Given the description of an element on the screen output the (x, y) to click on. 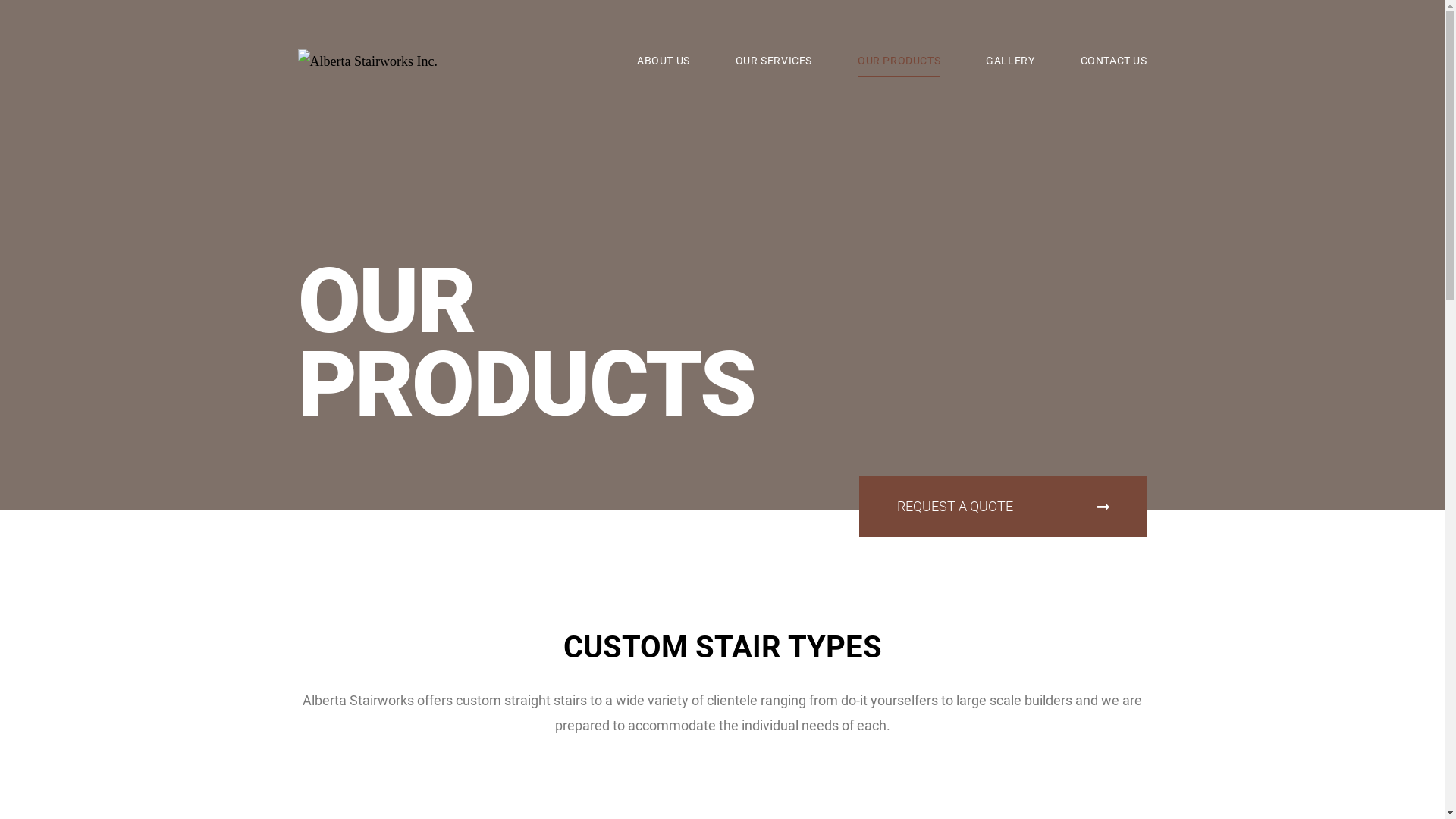
GALLERY Element type: text (1009, 61)
OUR PRODUCTS Element type: text (898, 61)
OUR SERVICES Element type: text (773, 61)
REQUEST A QUOTE Element type: text (1002, 506)
ABOUT US Element type: text (663, 61)
CONTACT US Element type: text (1112, 61)
